Given the description of an element on the screen output the (x, y) to click on. 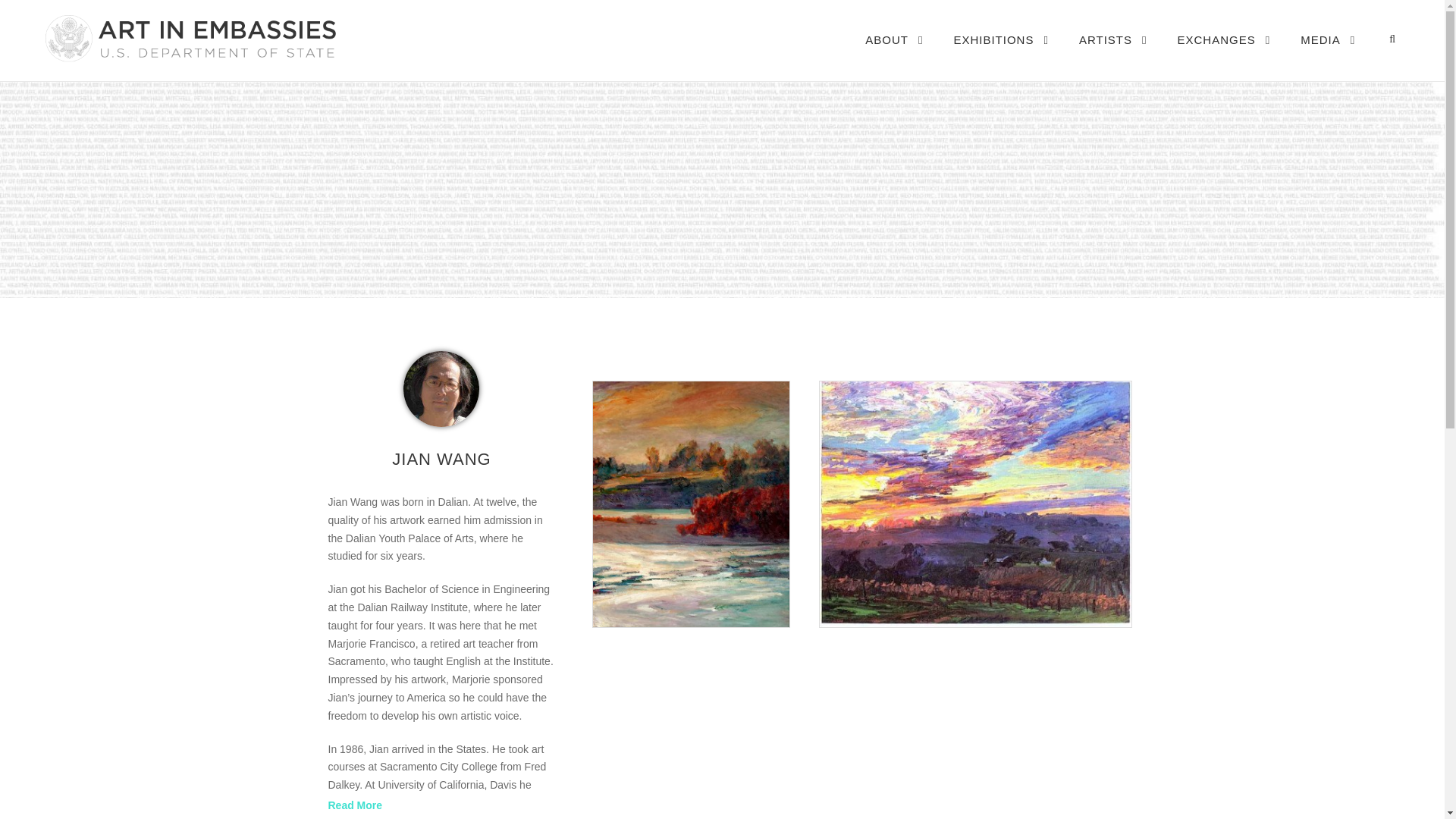
EXCHANGES (1224, 55)
EXHIBITIONS (1000, 55)
MEDIA (1327, 55)
Read More (354, 805)
ARTISTS (1112, 55)
ABOUT (893, 55)
aie logo3 (188, 38)
4319 (441, 388)
